Given the description of an element on the screen output the (x, y) to click on. 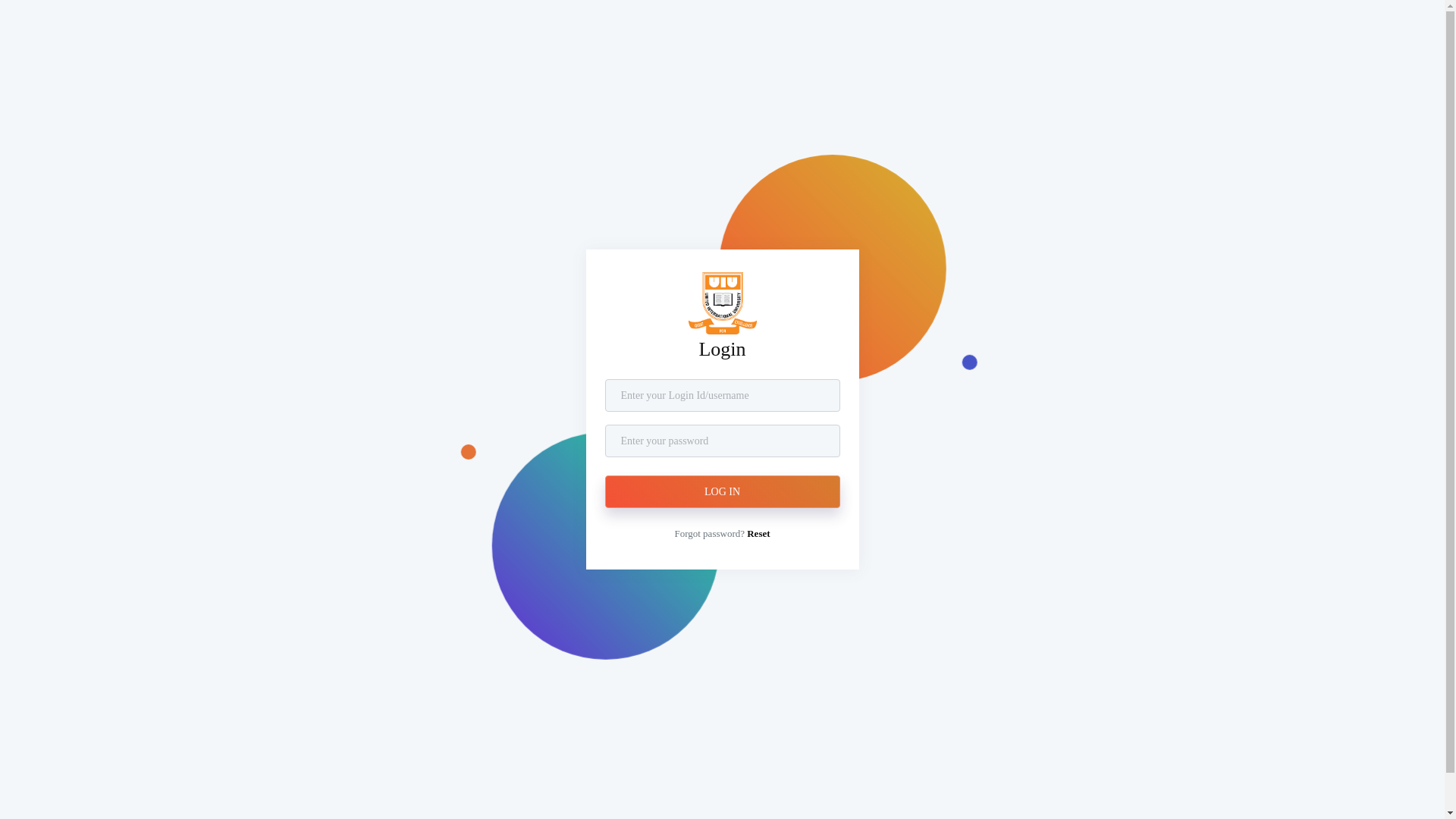
Reset Element type: text (757, 533)
LOG IN Element type: text (722, 491)
